Given the description of an element on the screen output the (x, y) to click on. 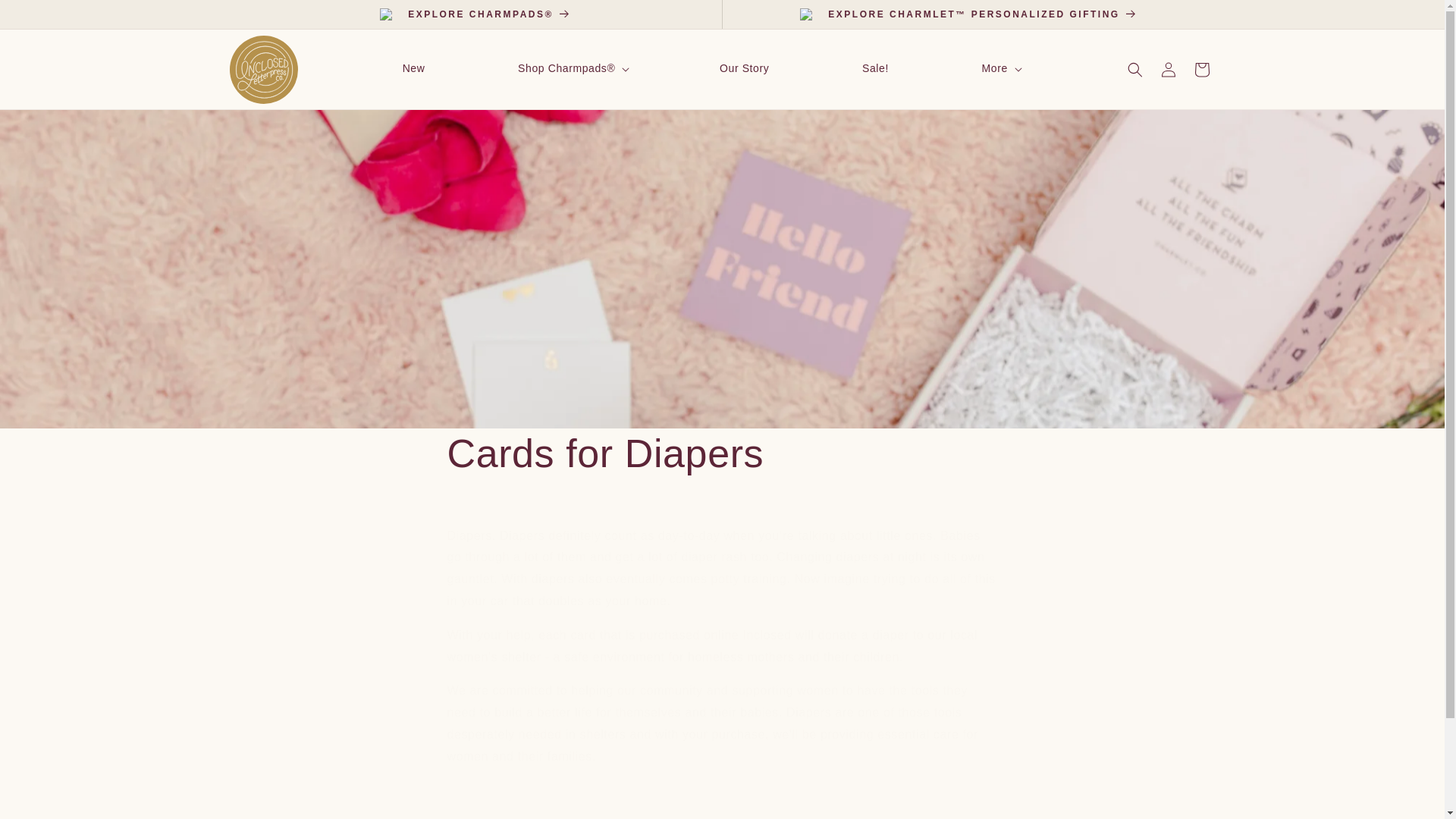
Cards for Diapers (721, 453)
SKIP TO CONTENT (45, 17)
